Given the description of an element on the screen output the (x, y) to click on. 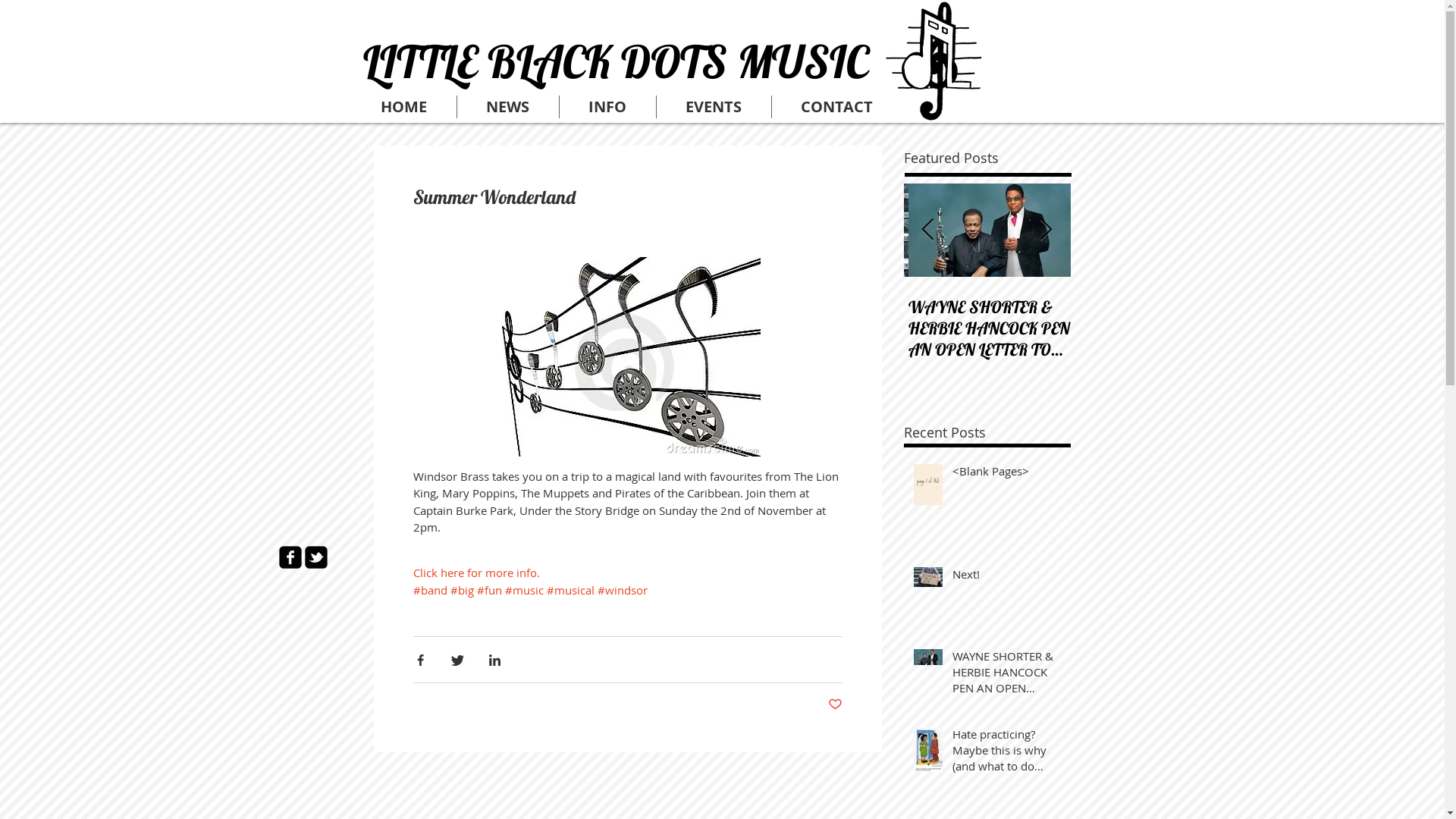
Next! Element type: text (986, 306)
#band Element type: text (429, 589)
Next! Element type: text (1006, 577)
#music Element type: text (524, 589)
#musical Element type: text (569, 589)
<Blank Pages> Element type: text (1006, 474)
HOME Element type: text (403, 106)
INFO Element type: text (607, 106)
<Blank Pages> Element type: text (820, 306)
Hate practicing? Maybe this is why (and what to do about it) Element type: text (1320, 328)
CONTACT Element type: text (836, 106)
EVENTS Element type: text (713, 106)
Facebook Like Element type: hover (444, 25)
LBDMLogowobg.png Element type: hover (941, 63)
#fun Element type: text (488, 589)
Hate practicing? Maybe this is why (and what to do about it) Element type: text (1006, 753)
Click here for more info. Element type: text (475, 572)
#windsor Element type: text (622, 589)
NEWS Element type: text (507, 106)
Post not marked as liked Element type: text (835, 704)
#big Element type: text (461, 589)
